Given the description of an element on the screen output the (x, y) to click on. 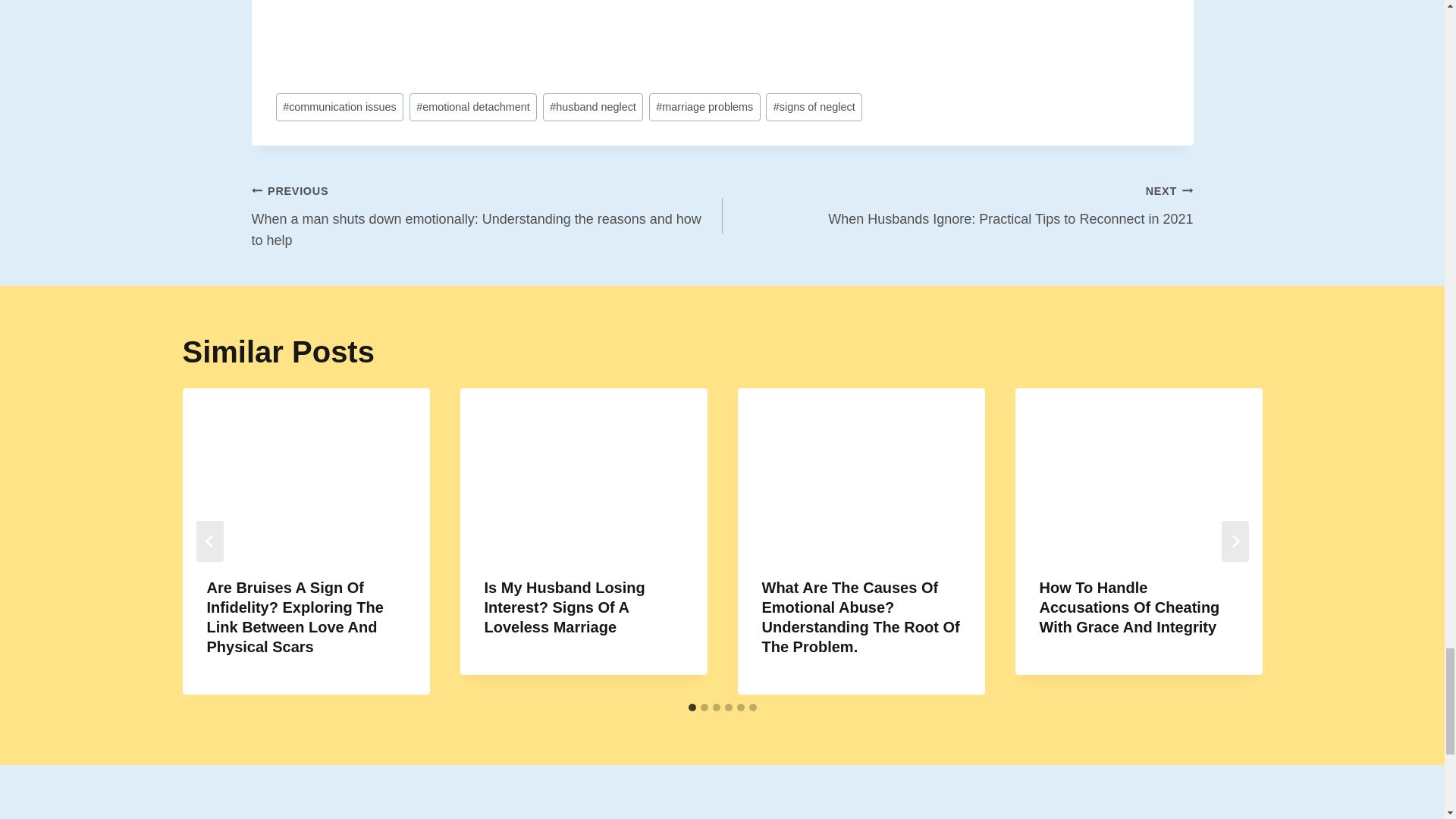
husband neglect (593, 107)
marriage problems (704, 107)
emotional detachment (473, 107)
communication issues (340, 107)
signs of neglect (813, 107)
